Given the description of an element on the screen output the (x, y) to click on. 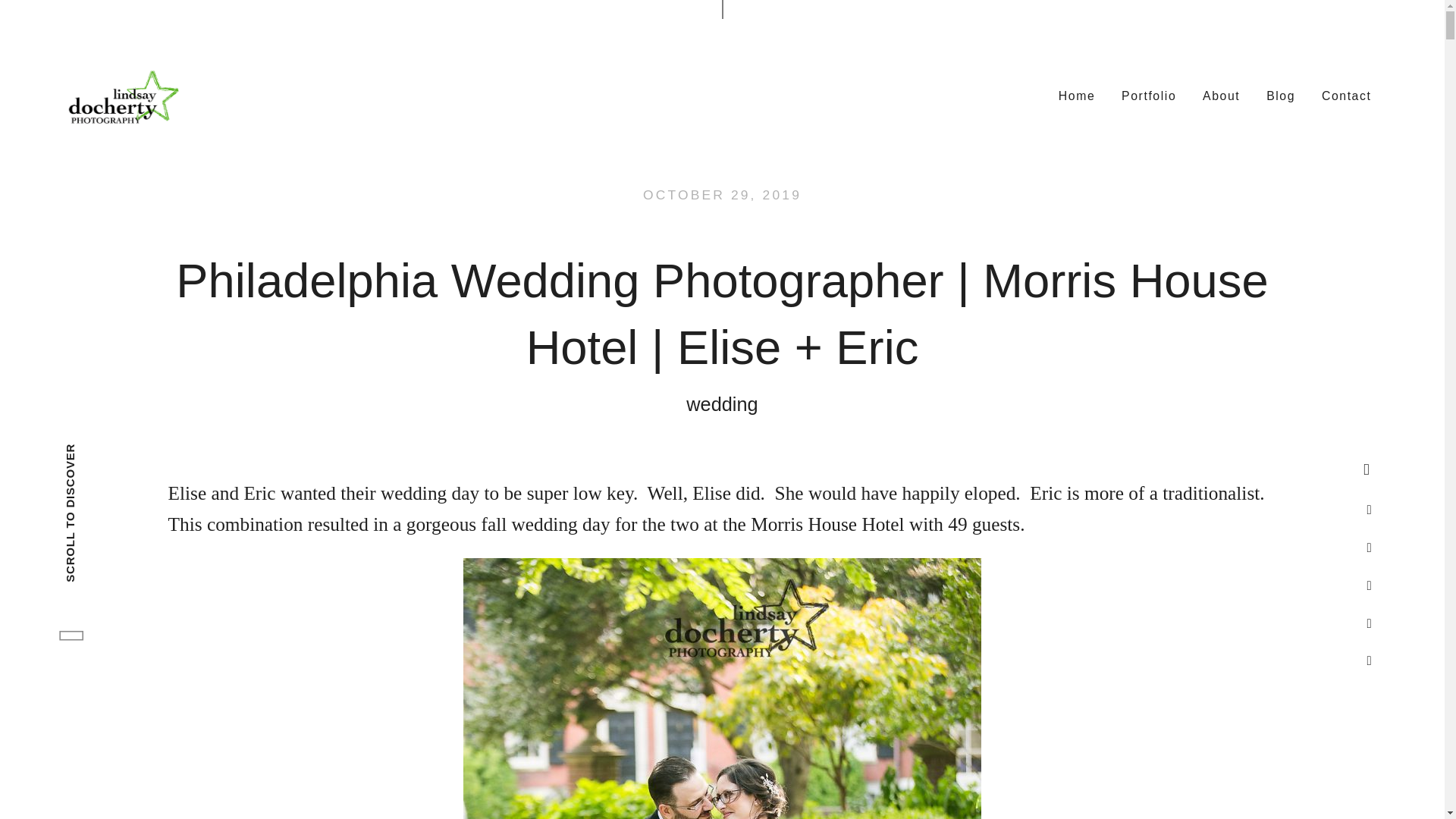
wedding (721, 404)
Blog (1281, 94)
Contact (1346, 94)
SCROLL TO DISCOVER (152, 470)
SCROLL TO DISCOVER (132, 452)
Home (1076, 94)
Portfolio (1149, 94)
Morris House Hotel (827, 523)
About (1221, 94)
